Given the description of an element on the screen output the (x, y) to click on. 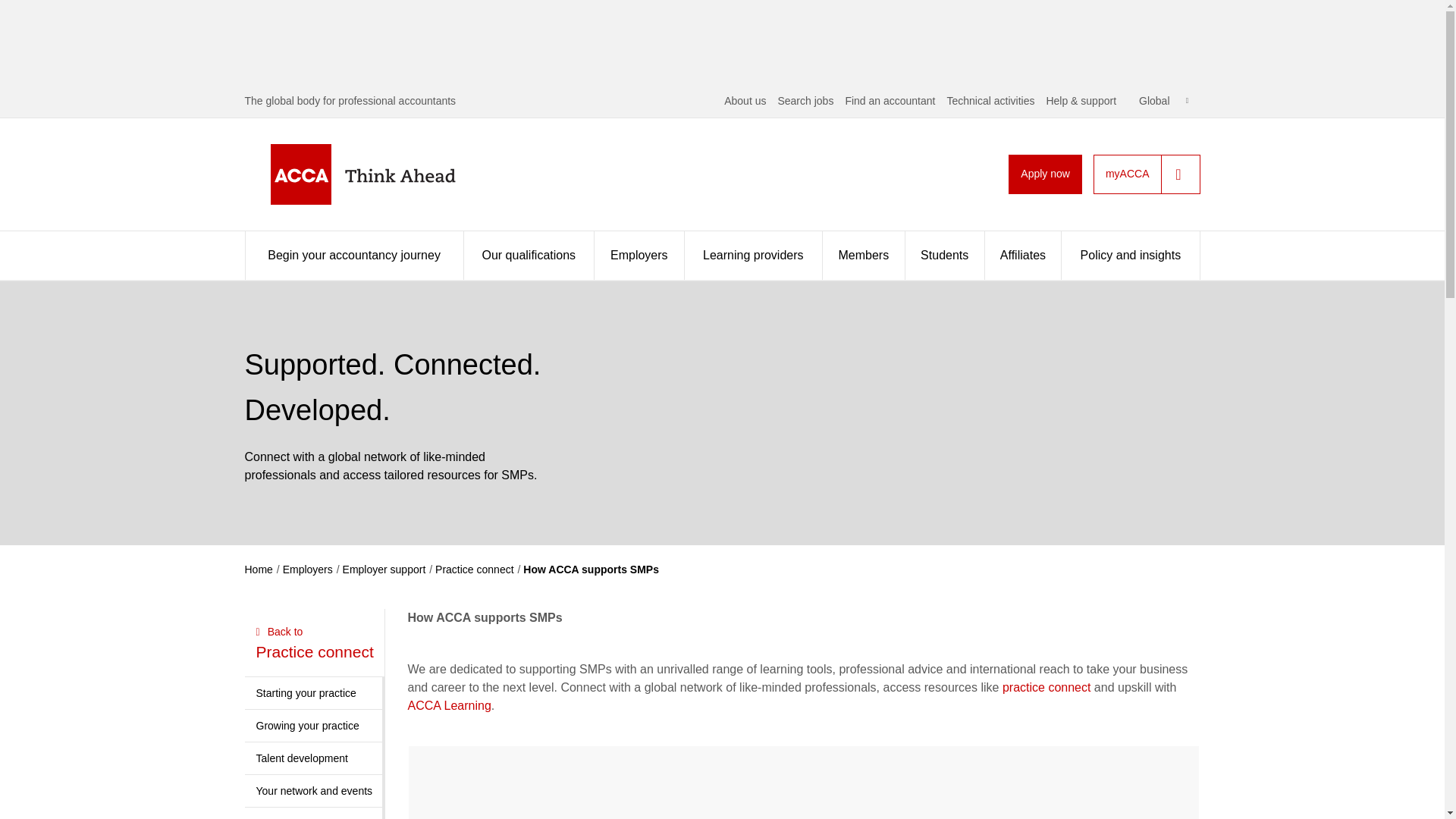
Global (1162, 100)
About us (744, 101)
Search jobs (804, 101)
ACCA - Think Ahead (387, 174)
Global (1162, 100)
Find an accountant (889, 101)
Technical activities (989, 101)
